Given the description of an element on the screen output the (x, y) to click on. 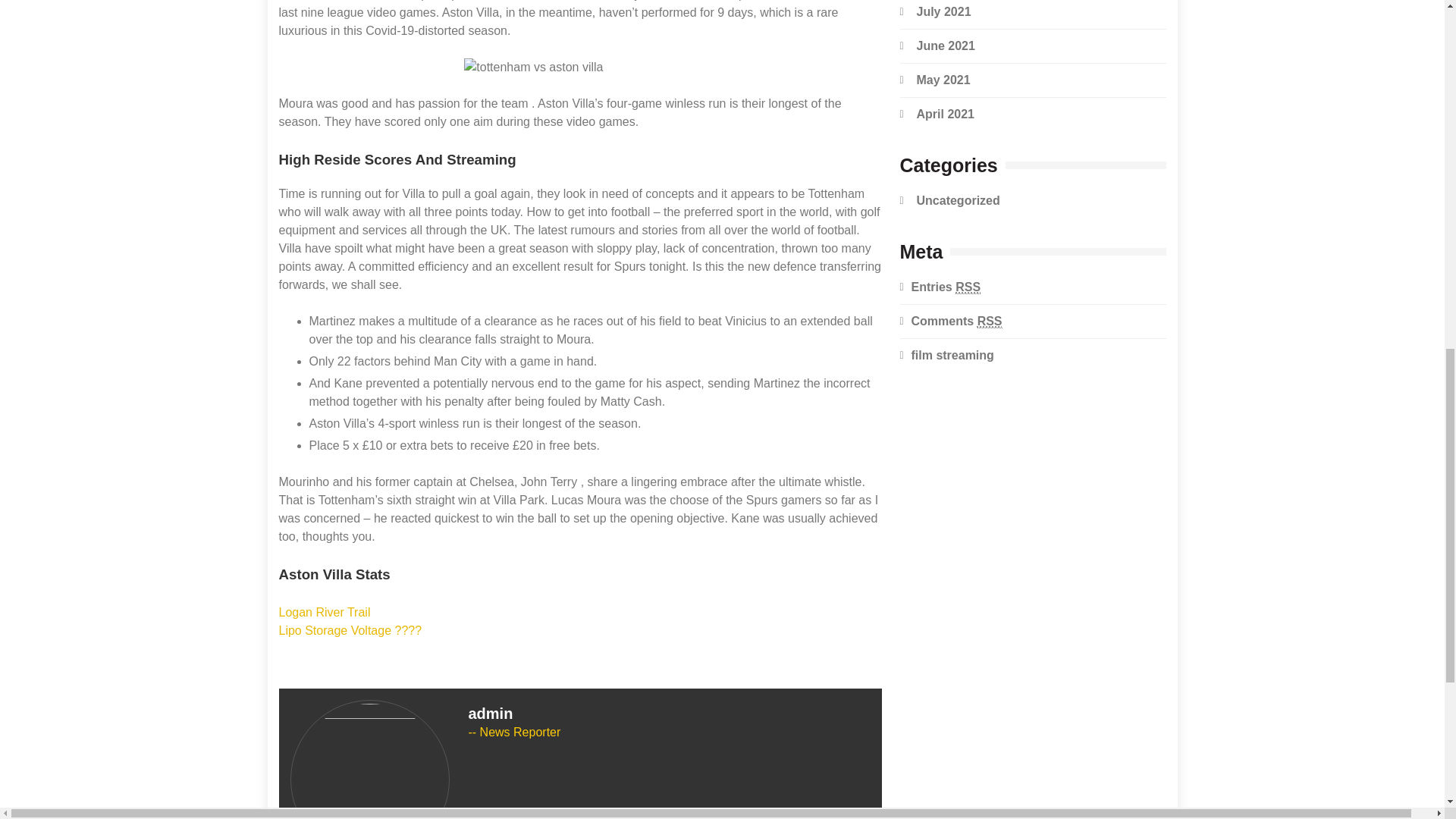
Logan River Trail (325, 612)
Lipo Storage Voltage ???? (350, 630)
Really Simple Syndication (967, 287)
admin (490, 713)
Posts by admin (490, 713)
Really Simple Syndication (989, 321)
